Given the description of an element on the screen output the (x, y) to click on. 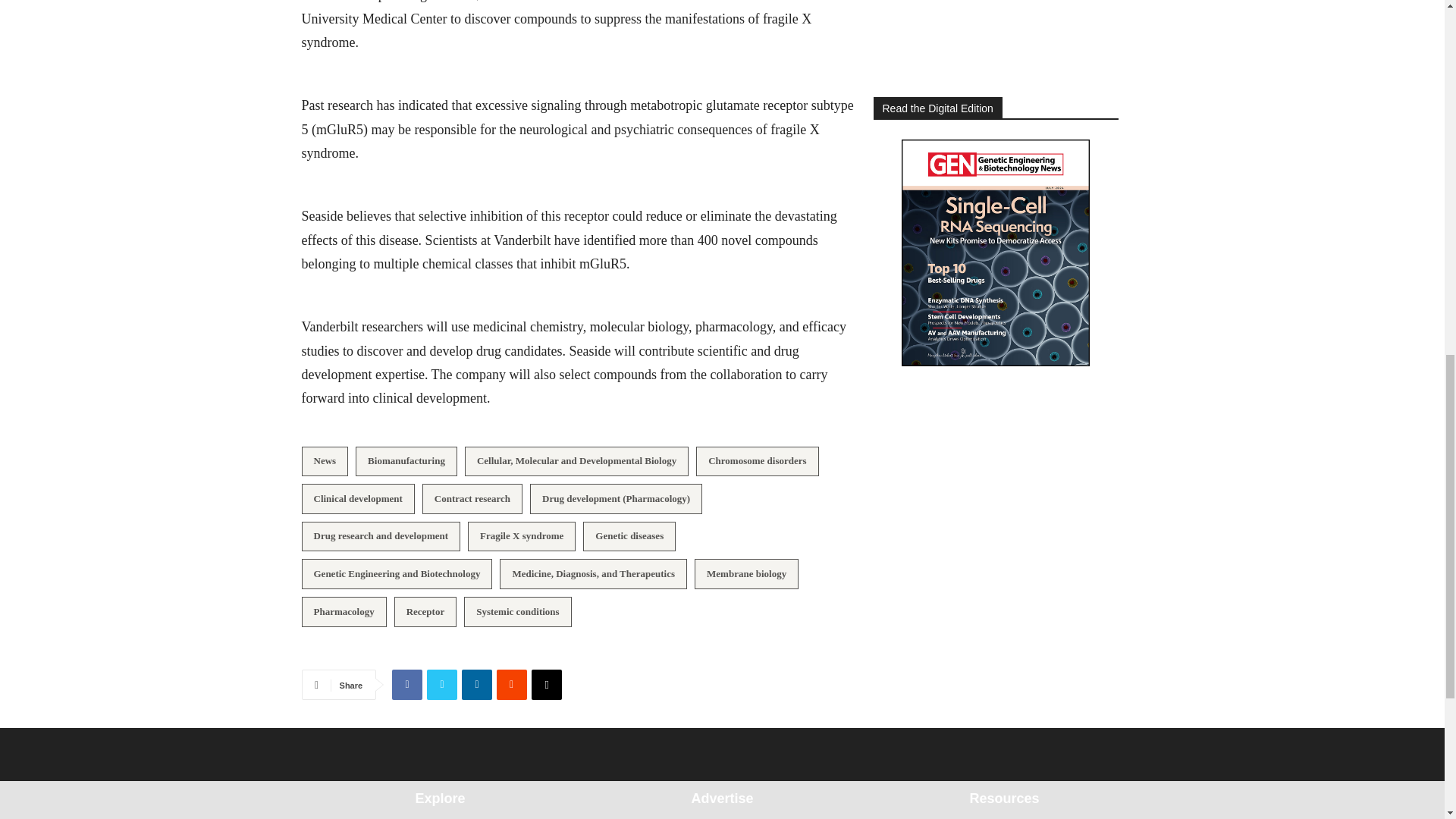
Facebook (406, 684)
